Given the description of an element on the screen output the (x, y) to click on. 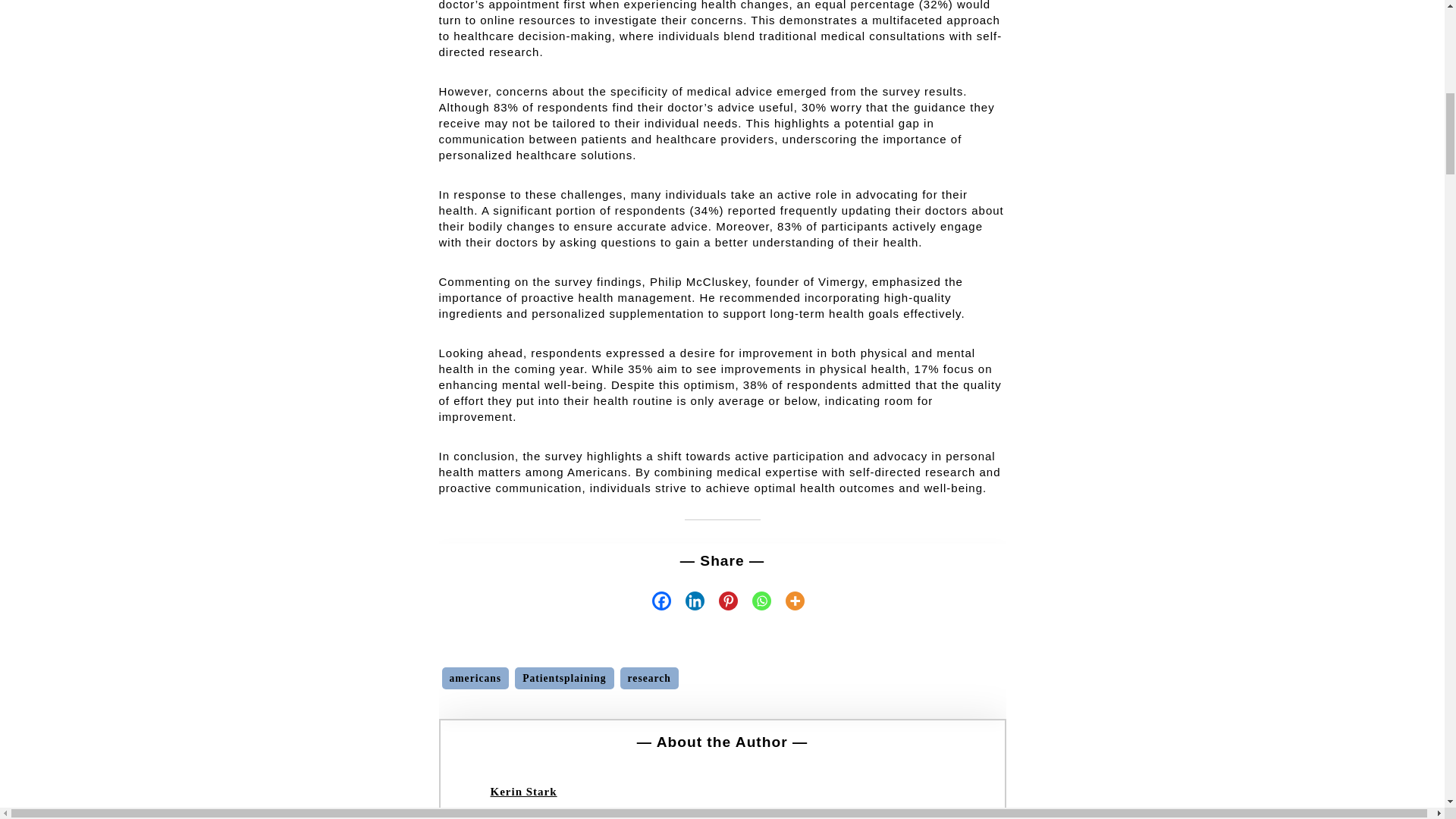
Whatsapp (754, 600)
Pinterest (721, 600)
Facebook (654, 600)
More (788, 600)
Linkedin (687, 600)
